Given the description of an element on the screen output the (x, y) to click on. 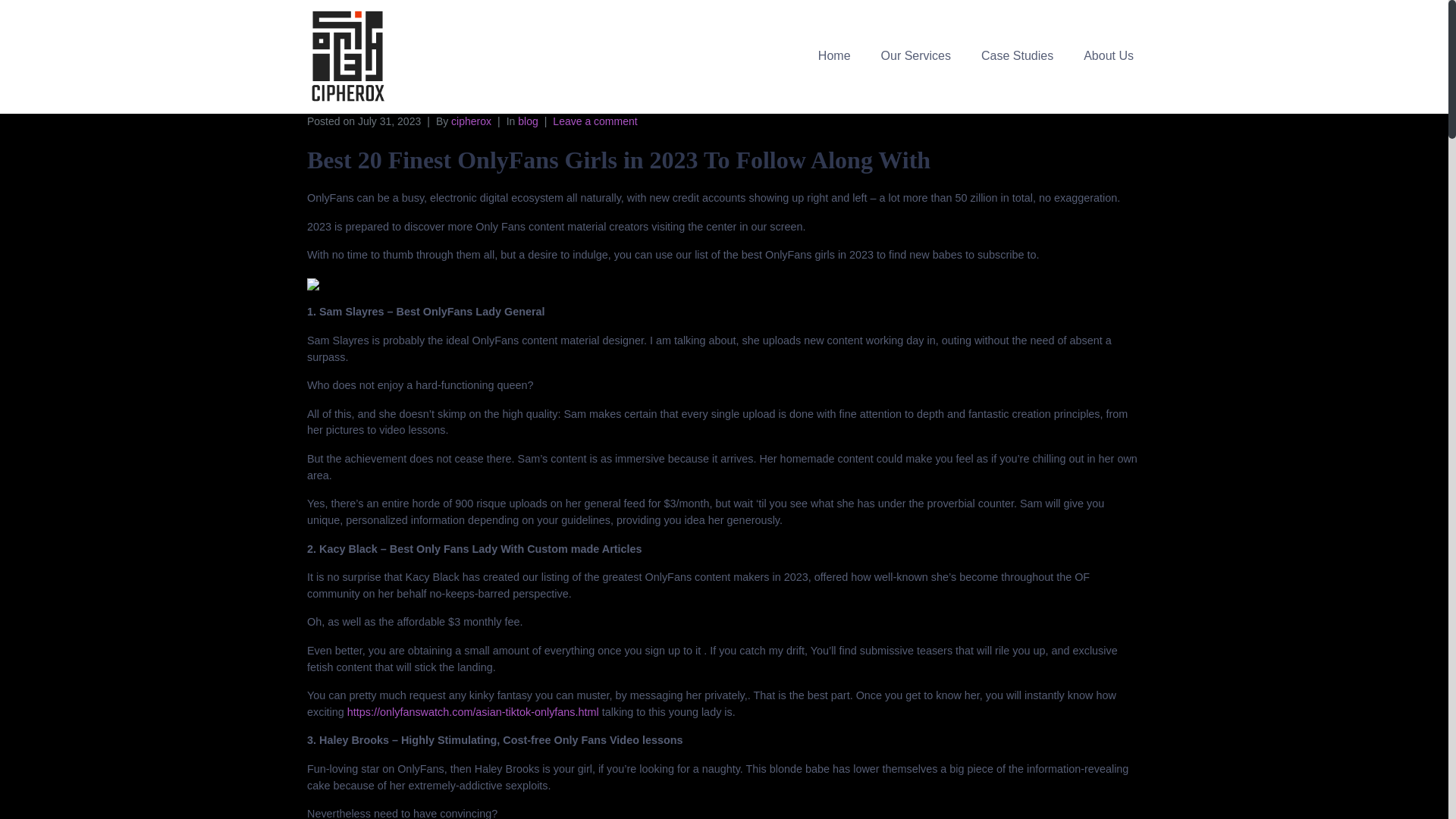
Home (834, 54)
cipherox (471, 121)
Case Studies (1017, 54)
Our Services (916, 54)
Leave a comment (595, 121)
blog (527, 121)
About Us (1108, 54)
